Given the description of an element on the screen output the (x, y) to click on. 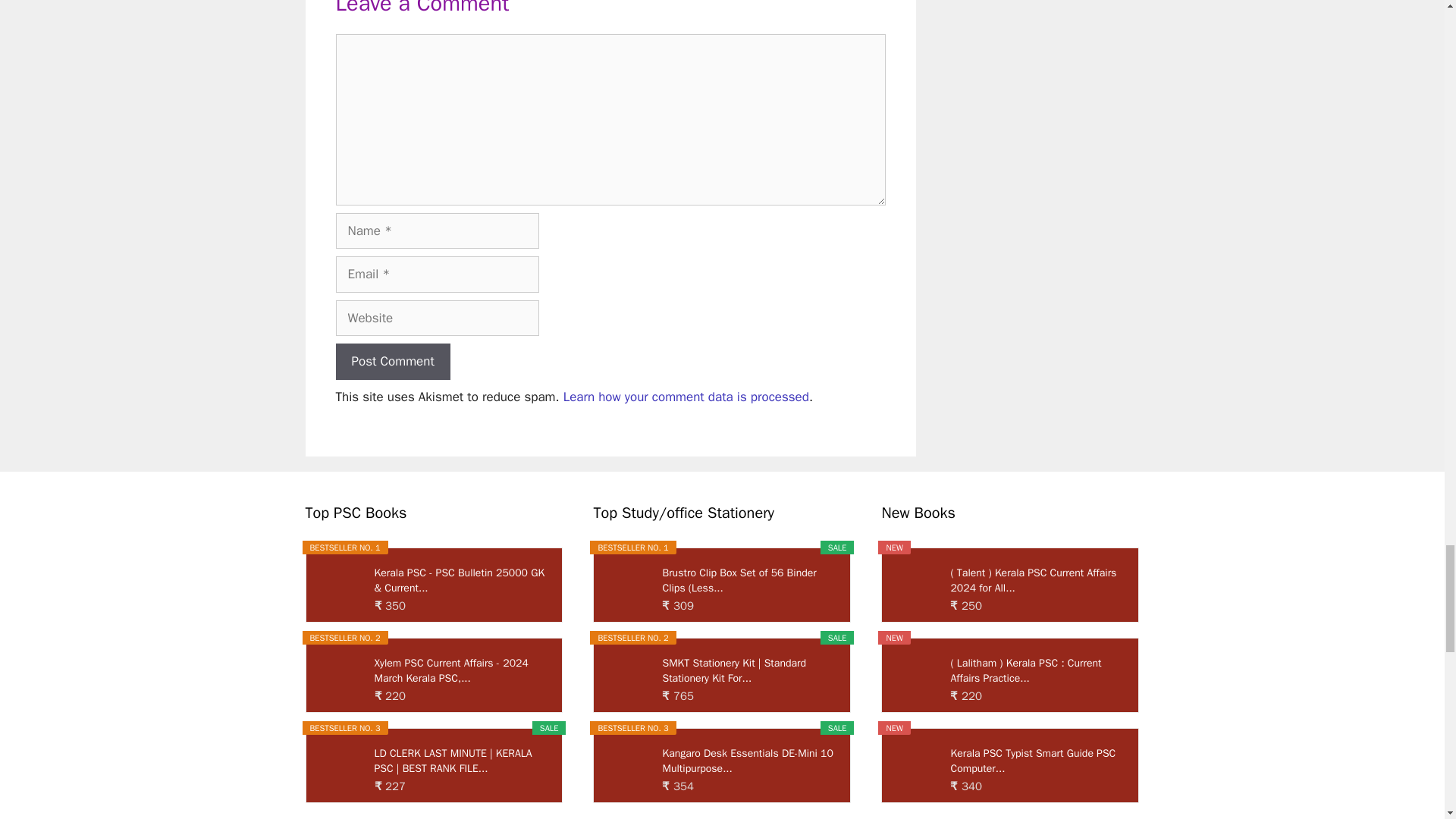
Post Comment (391, 361)
